Given the description of an element on the screen output the (x, y) to click on. 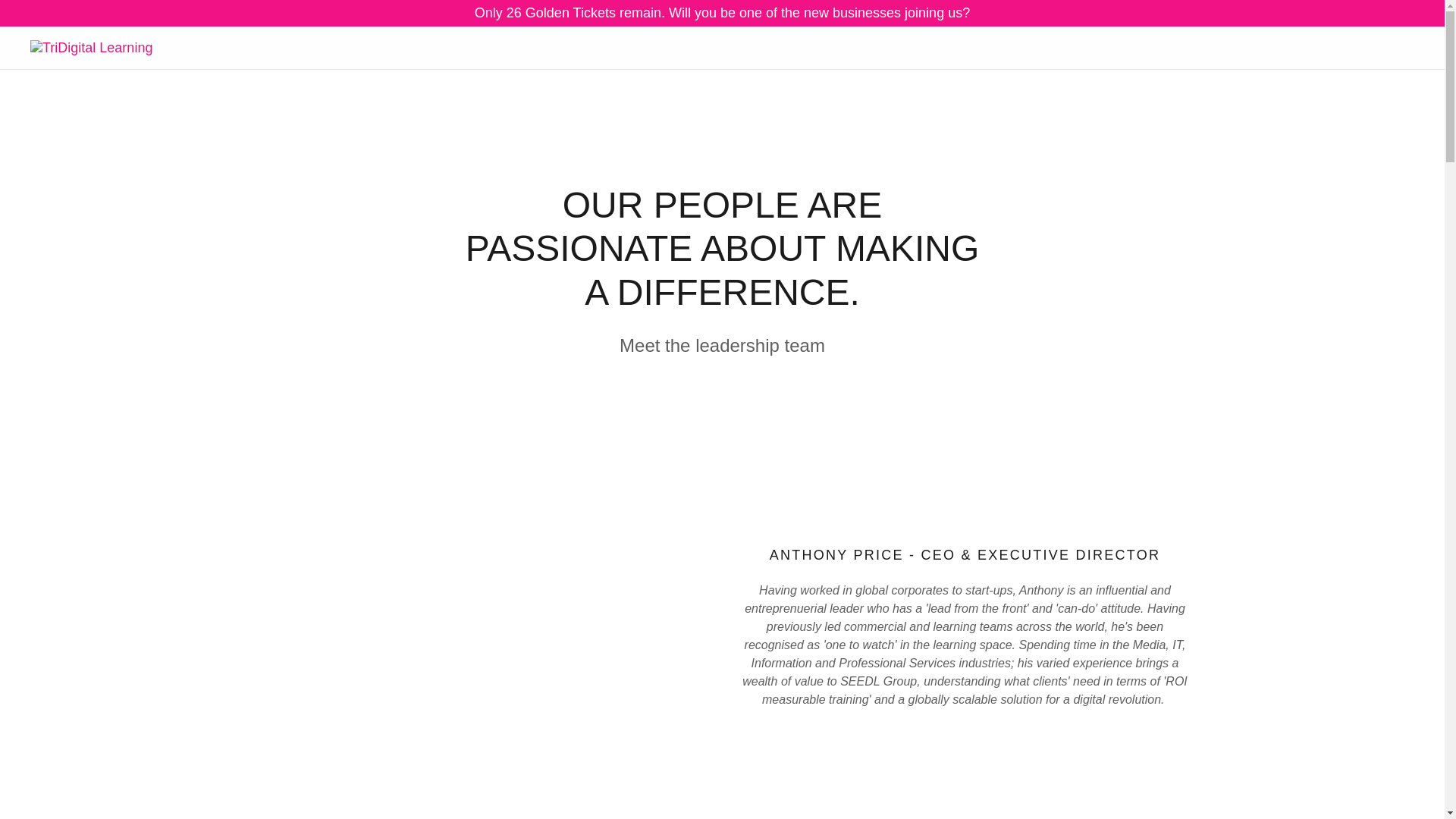
TriDigital Learning (91, 46)
